Given the description of an element on the screen output the (x, y) to click on. 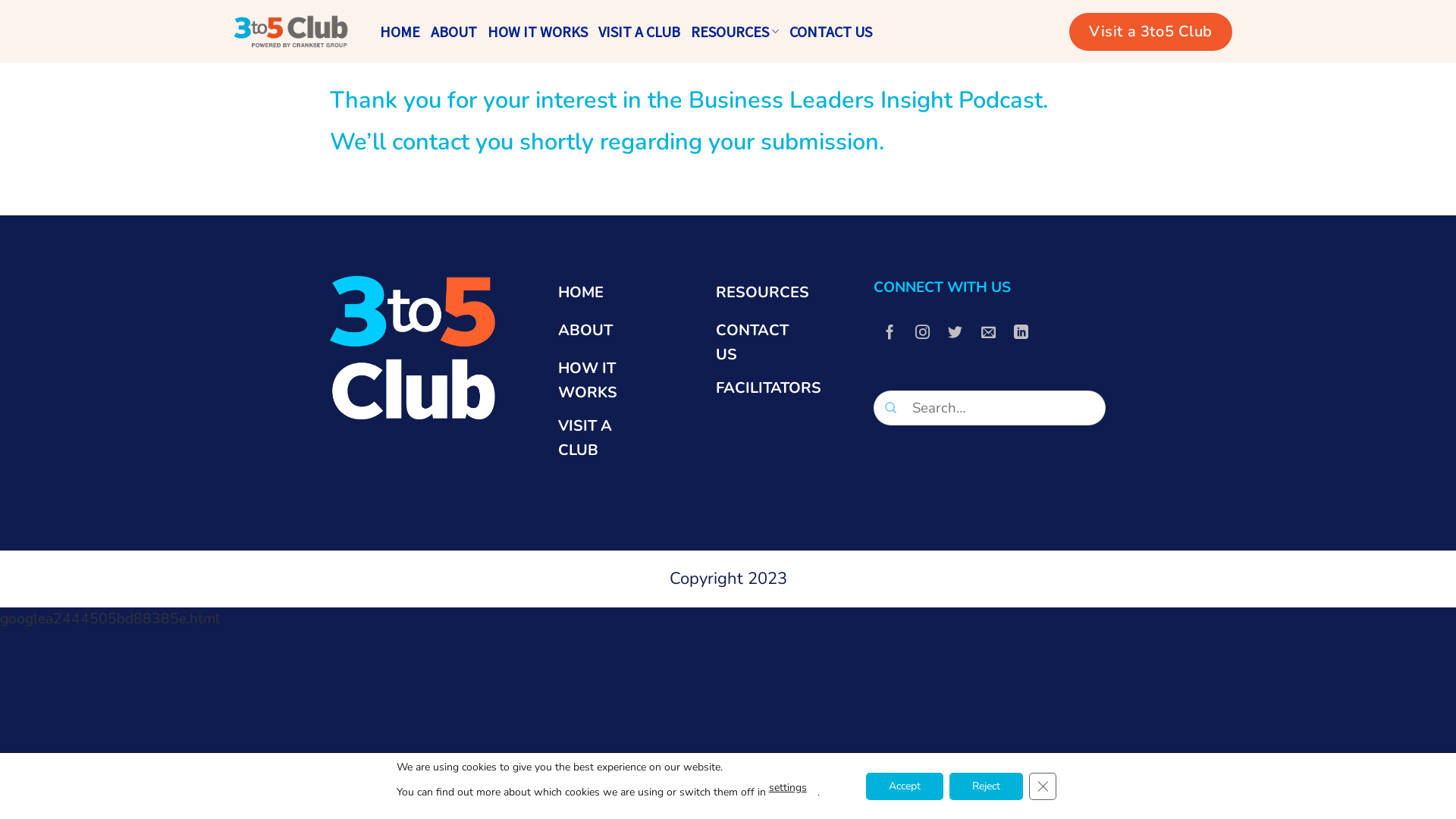
CONTACT US Element type: text (762, 342)
HOME Element type: text (605, 294)
HOME Element type: text (399, 31)
Close GDPR Cookie Banner Element type: text (1042, 785)
ABOUT Element type: text (605, 332)
CONTACT US Element type: text (830, 31)
FACILITATORS Element type: text (768, 390)
Follow on Instagram Element type: hover (922, 332)
Reject Element type: text (985, 785)
Visit a 3to5 Club Element type: text (1150, 31)
RESOURCES Element type: text (762, 294)
VISIT A CLUB Element type: text (605, 438)
Accept Element type: text (904, 785)
Follow on LinkedIn Element type: hover (1021, 332)
Follow on Twitter Element type: hover (955, 332)
Follow on Facebook Element type: hover (890, 332)
Send us an email Element type: hover (988, 332)
VISIT A CLUB Element type: text (639, 31)
3to5 Club Element type: hover (290, 30)
settings Element type: text (787, 787)
HOW IT WORKS Element type: text (537, 31)
ABOUT Element type: text (453, 31)
HOW IT WORKS Element type: text (605, 380)
RESOURCES Element type: text (734, 31)
